Given the description of an element on the screen output the (x, y) to click on. 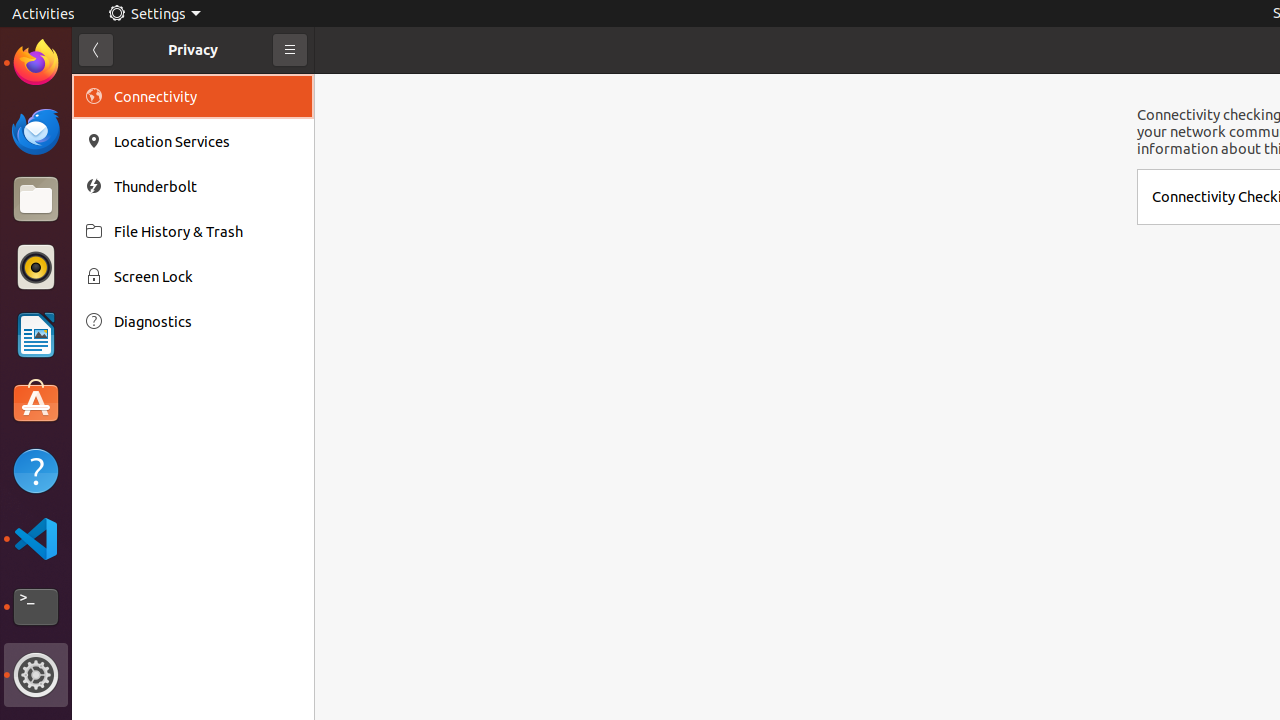
Activities Element type: label (43, 13)
Diagnostics Element type: label (207, 321)
File History & Trash Element type: label (207, 231)
